Given the description of an element on the screen output the (x, y) to click on. 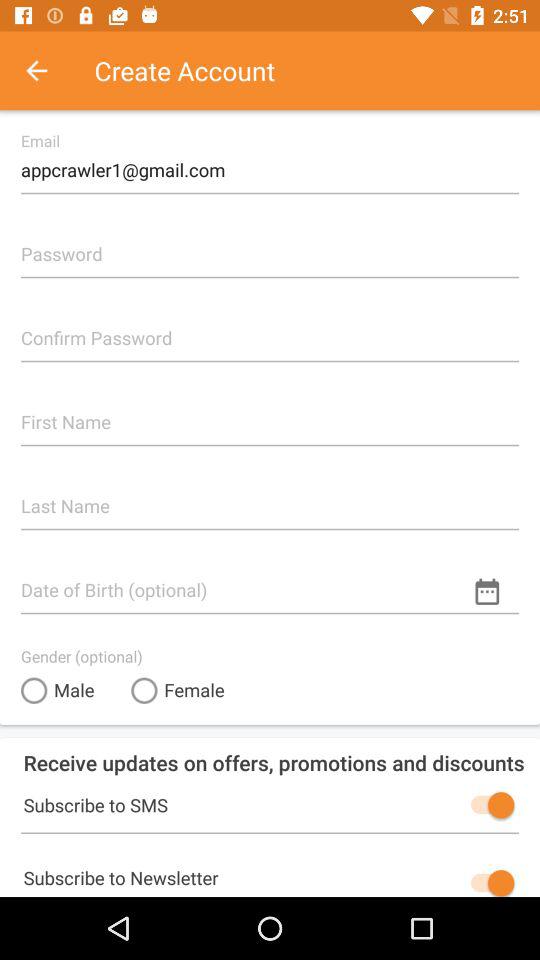
enter date of birth (270, 581)
